Given the description of an element on the screen output the (x, y) to click on. 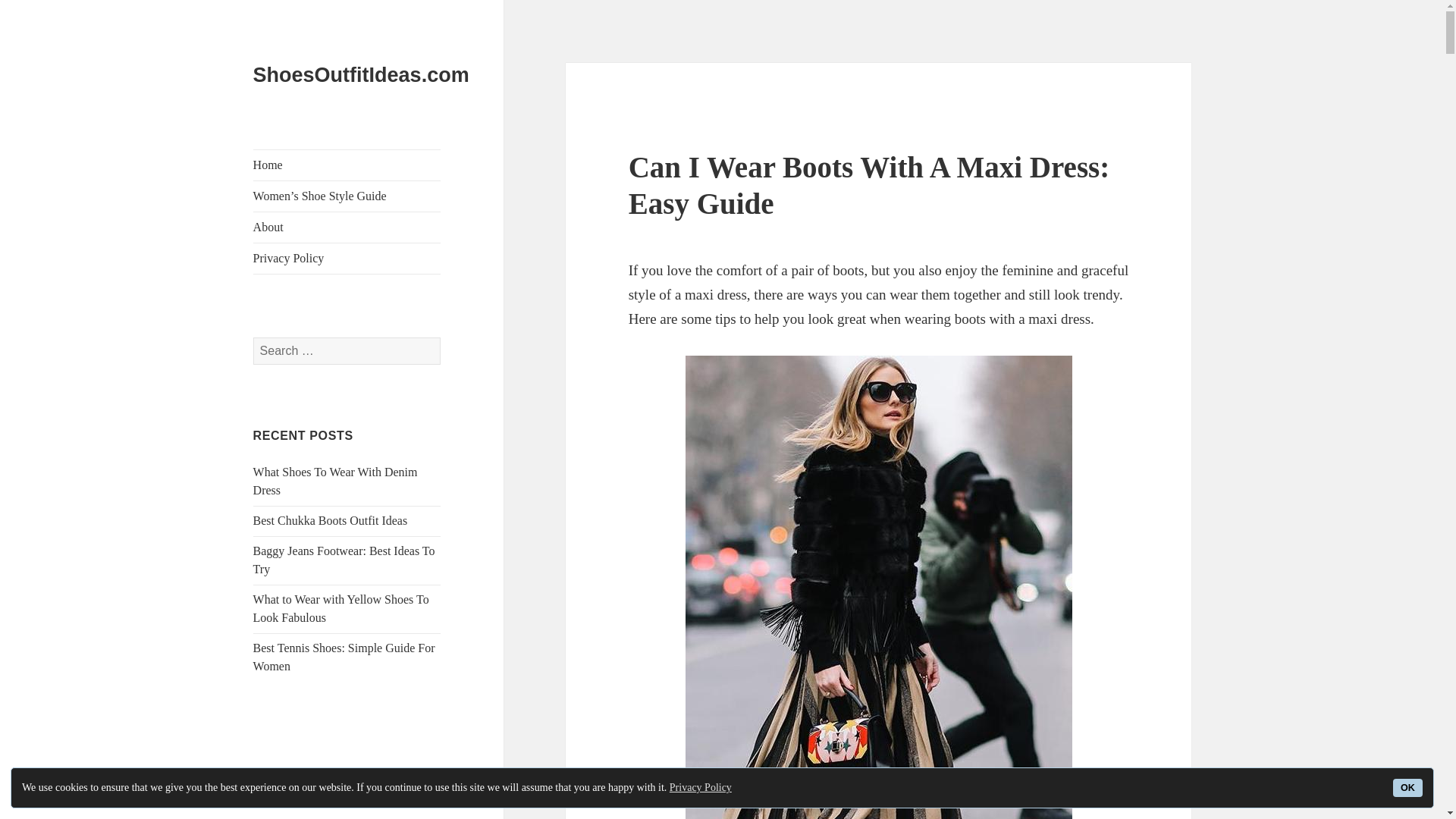
OK (1407, 787)
Privacy Policy (700, 787)
What Shoes To Wear With Denim Dress (335, 481)
Home (347, 164)
About (347, 227)
Best Tennis Shoes: Simple Guide For Women (344, 656)
Privacy Policy (347, 258)
Baggy Jeans Footwear: Best Ideas To Try (344, 559)
